Given the description of an element on the screen output the (x, y) to click on. 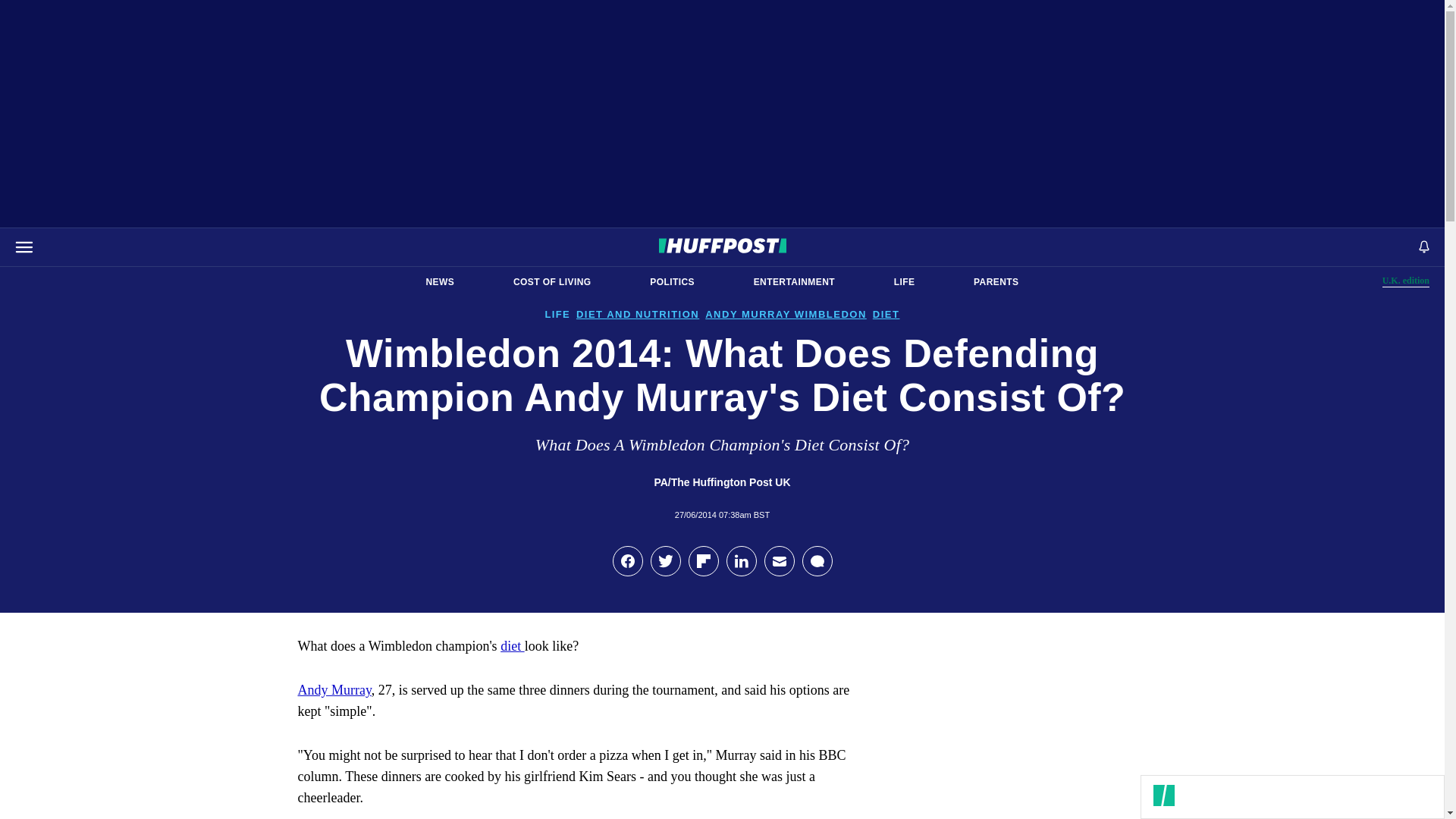
NEWS (440, 281)
LIFE (904, 281)
POLITICS (671, 281)
ENTERTAINMENT (794, 281)
PARENTS (995, 281)
COST OF LIVING (1405, 281)
